Given the description of an element on the screen output the (x, y) to click on. 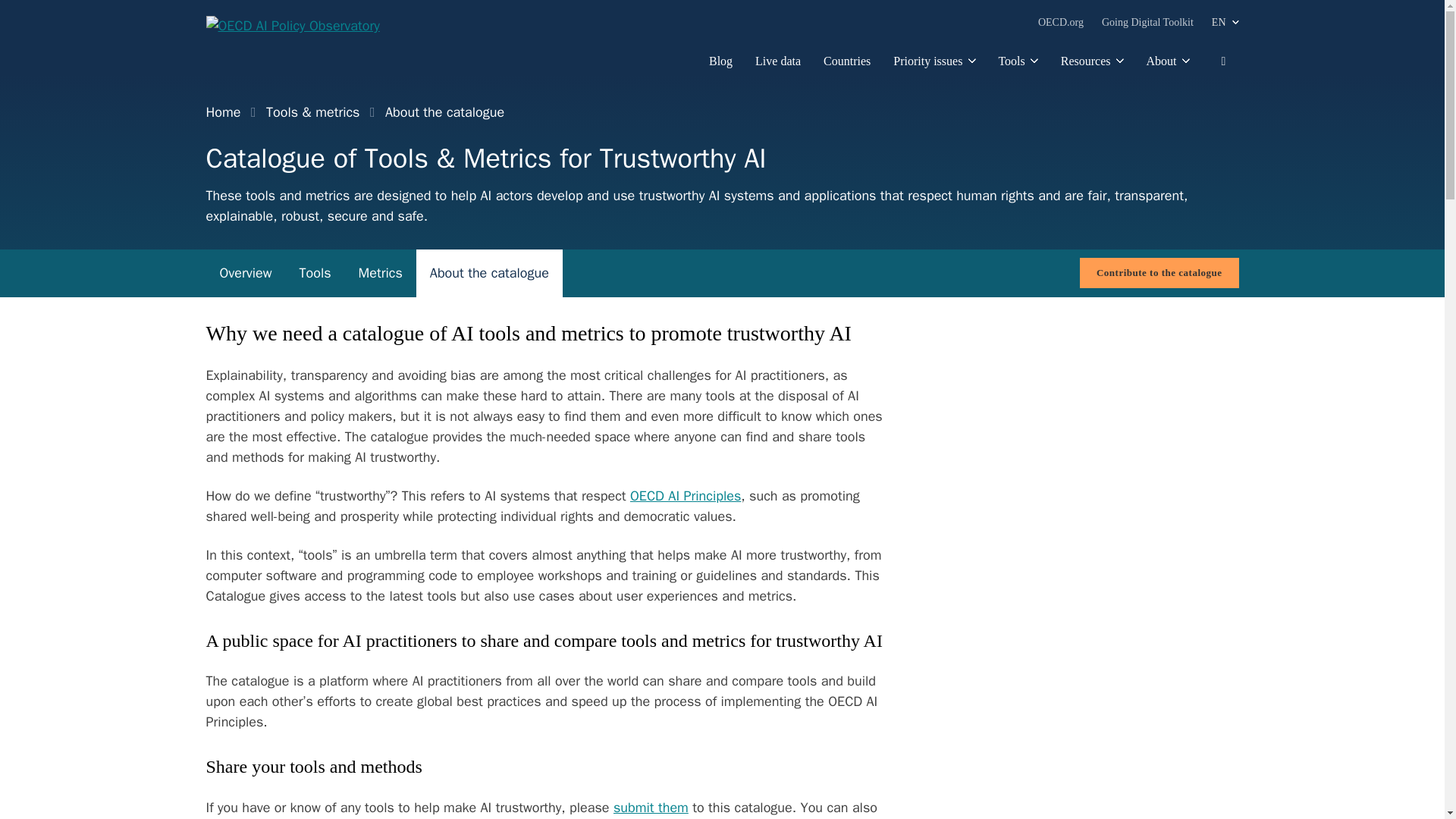
Home (228, 112)
Live data (777, 68)
submit them (650, 807)
Priority issues (934, 68)
Tools (1016, 68)
Going Digital Toolkit (1147, 29)
OECD.org (1060, 29)
Metrics (380, 273)
Contribute to the catalogue (1159, 272)
Tools (315, 273)
Countries (847, 68)
Resources (1092, 68)
About (1168, 68)
About the catalogue (489, 273)
Overview (245, 273)
